Given the description of an element on the screen output the (x, y) to click on. 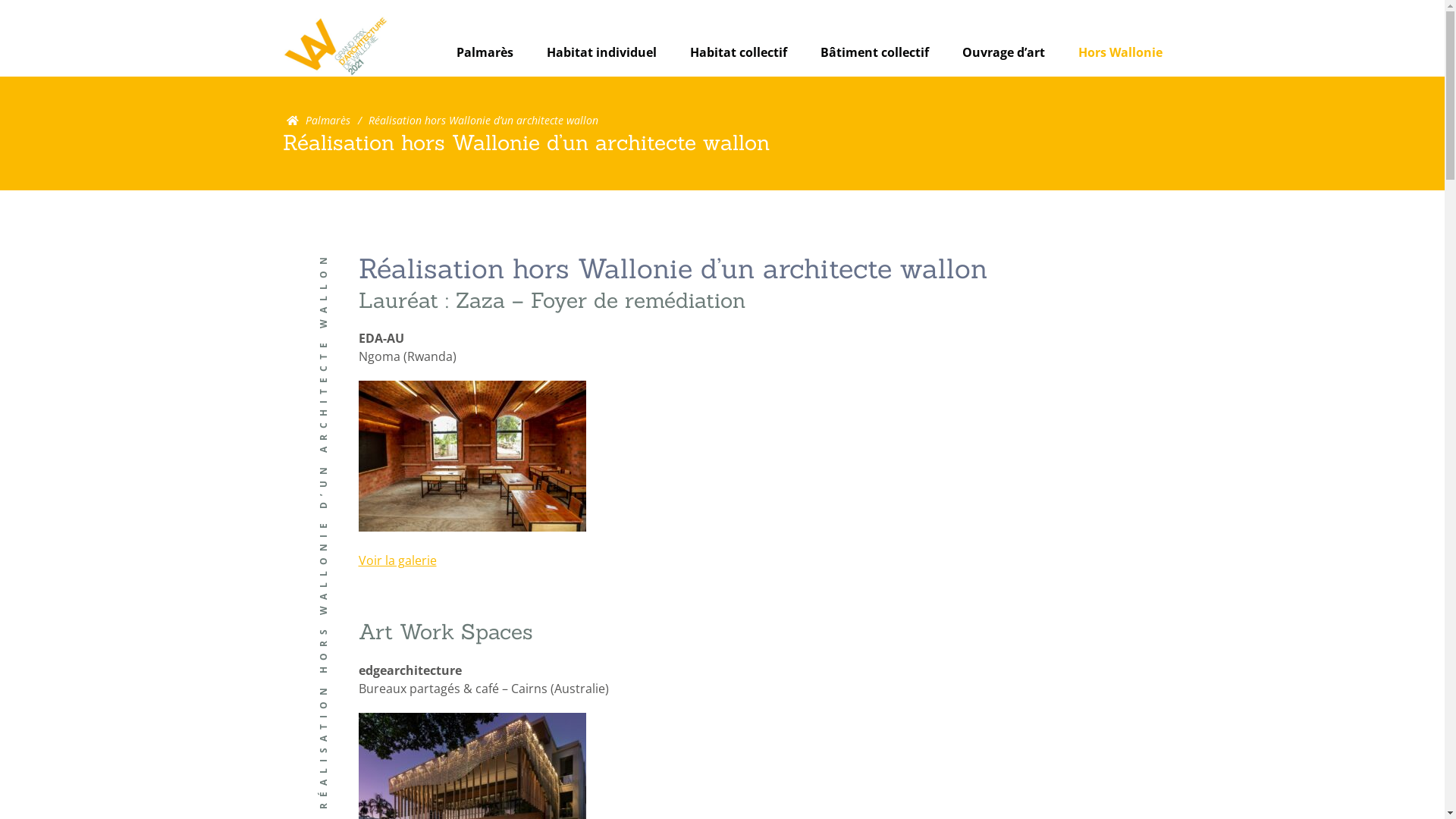
Search Element type: text (872, 83)
Habitat individuel Element type: text (600, 51)
Voir la galerie Element type: text (396, 560)
Habitat collectif Element type: text (738, 51)
Hors Wallonie Element type: text (1120, 51)
